Given the description of an element on the screen output the (x, y) to click on. 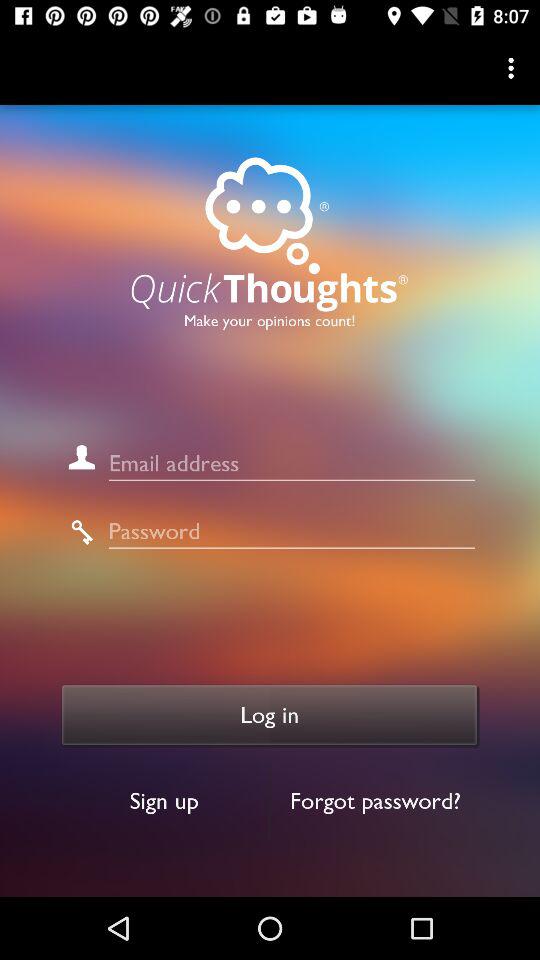
turn on item below log in icon (164, 800)
